Given the description of an element on the screen output the (x, y) to click on. 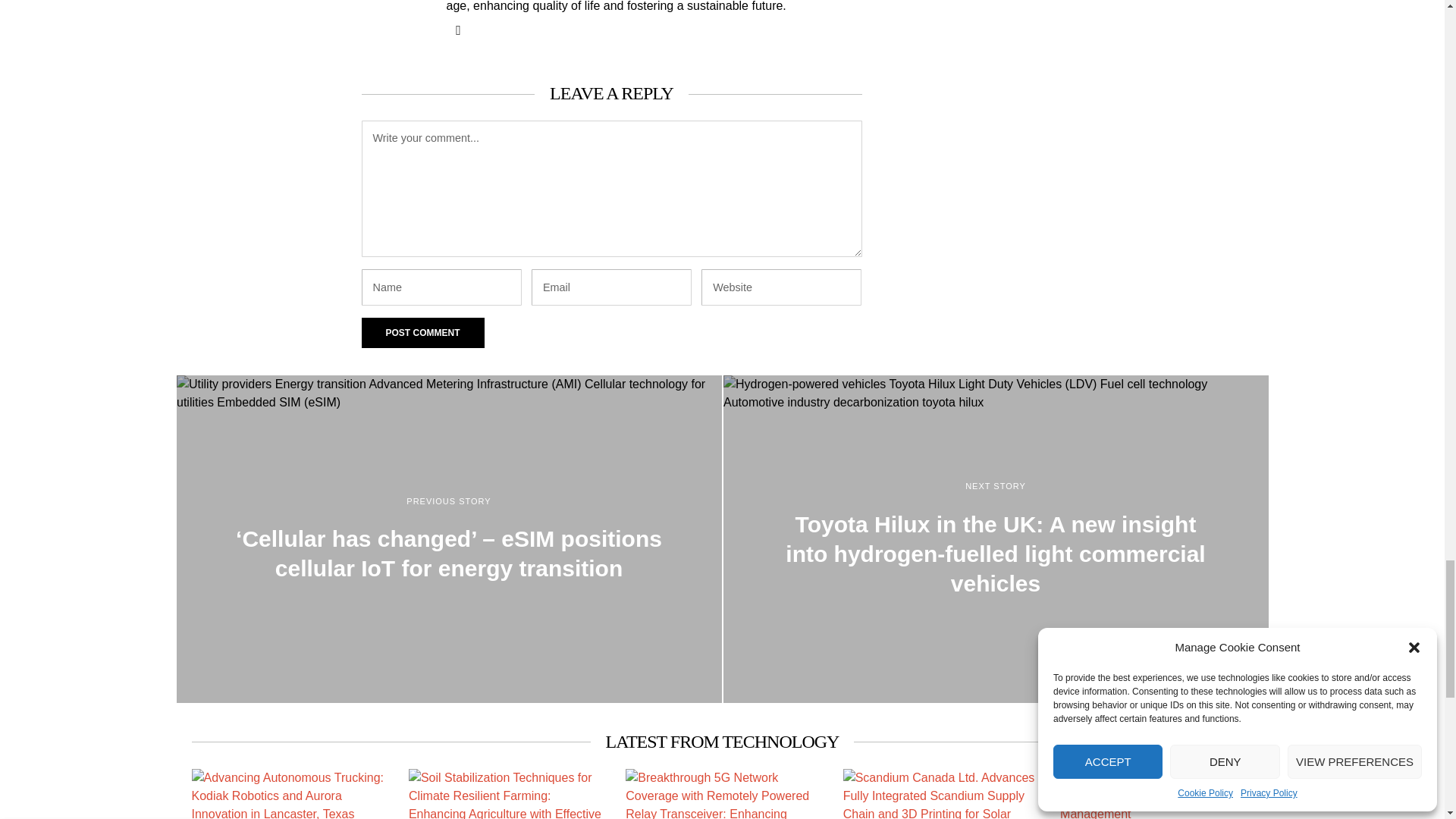
Post Comment (422, 332)
